Given the description of an element on the screen output the (x, y) to click on. 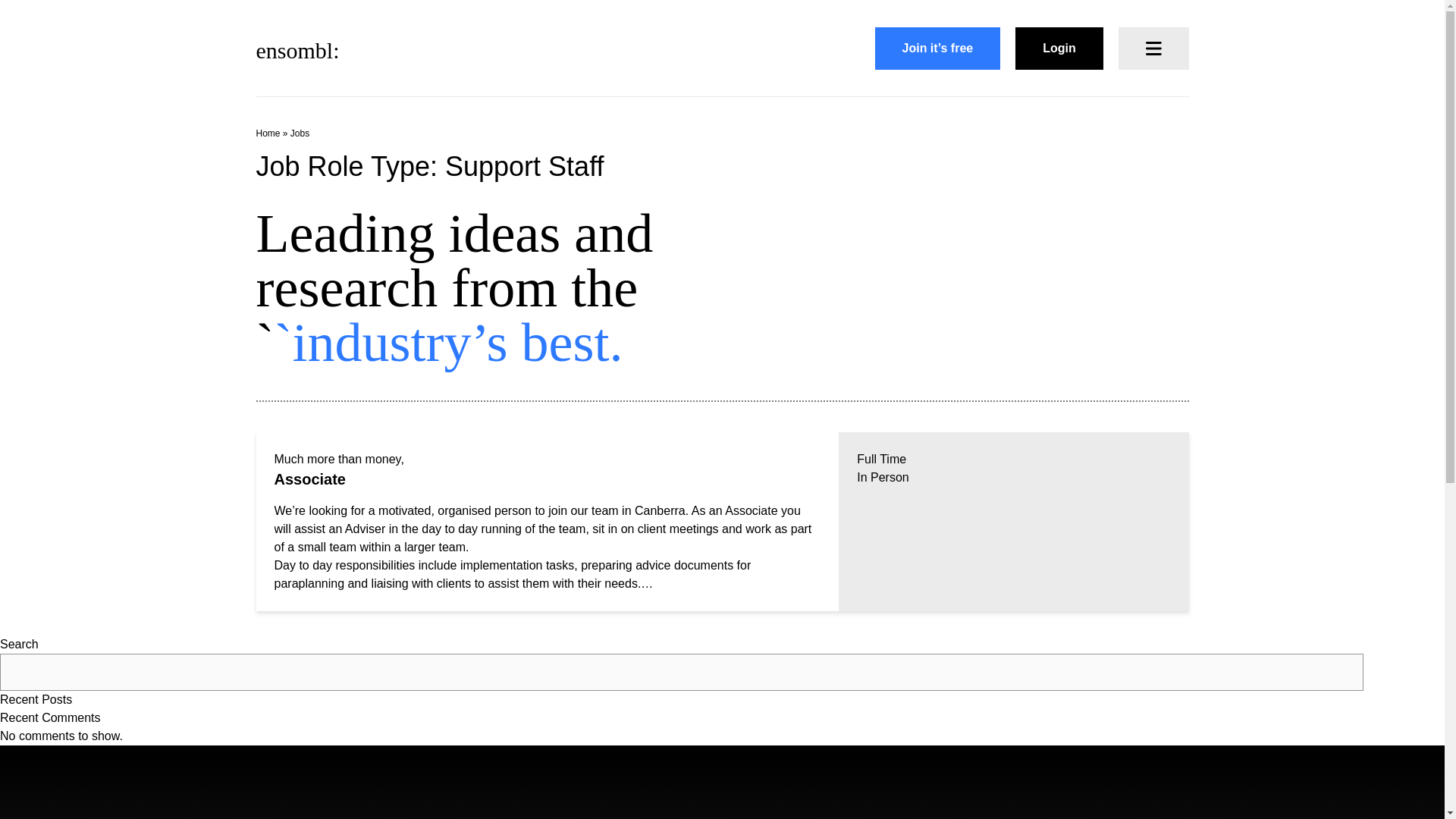
Home (268, 132)
Login (1058, 48)
ensombl: (297, 48)
Jobs (298, 132)
